Given the description of an element on the screen output the (x, y) to click on. 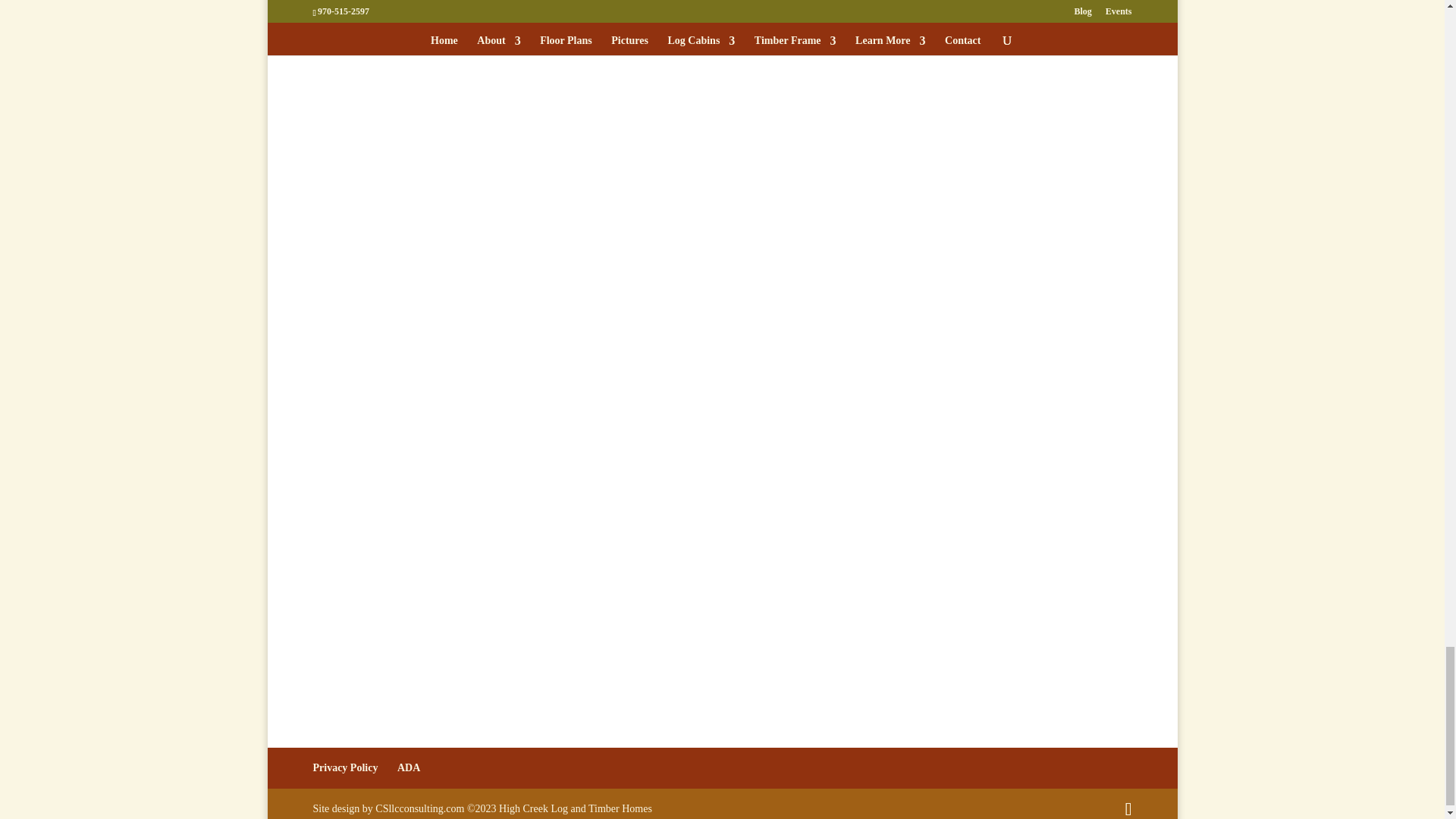
ADA (408, 767)
Privacy Policy (345, 767)
